Given the description of an element on the screen output the (x, y) to click on. 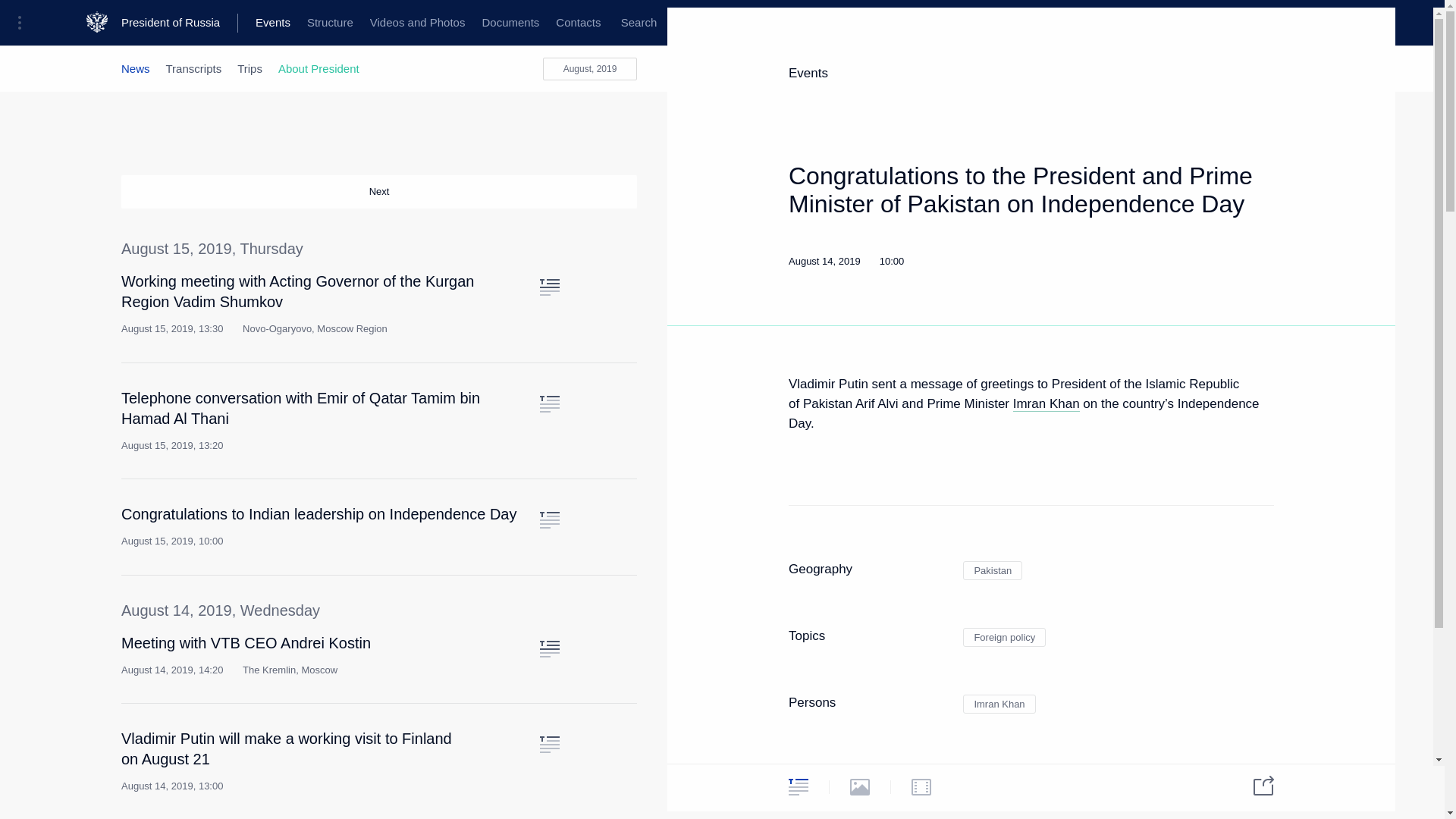
Structure (329, 22)
Events (272, 22)
Transcripts (194, 68)
Text of the article (549, 648)
Text of the article (549, 744)
President of Russia (179, 22)
Portal Menu (24, 22)
Documents (510, 22)
State Council (378, 22)
Text of the article (549, 403)
Commissions and Councils (596, 22)
August, 2019 (590, 68)
